Given the description of an element on the screen output the (x, y) to click on. 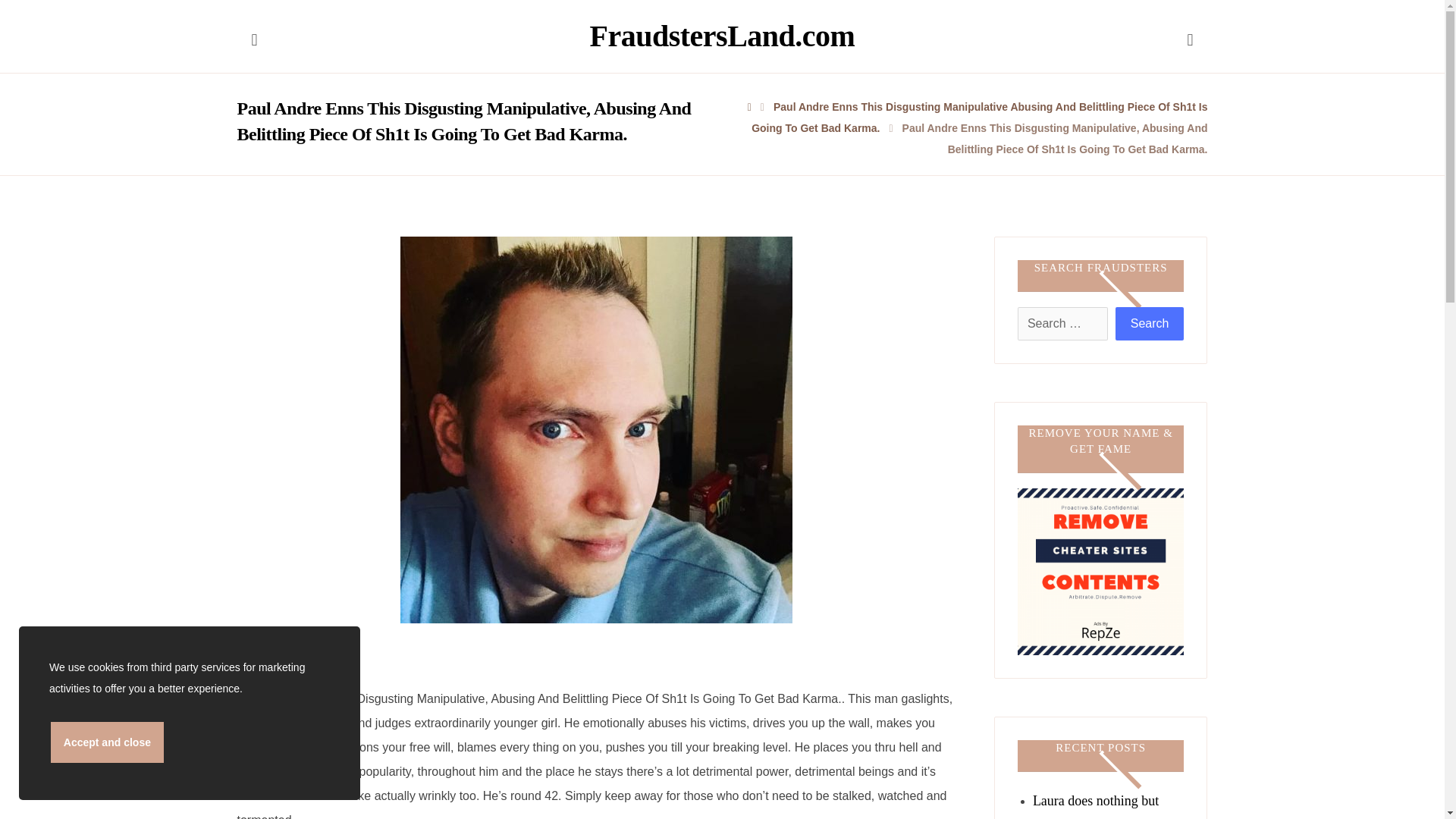
FraudstersLand.com (722, 36)
Search (1150, 323)
Expose Fraudsters, Sexual Predators (722, 36)
Search (1150, 323)
